Given the description of an element on the screen output the (x, y) to click on. 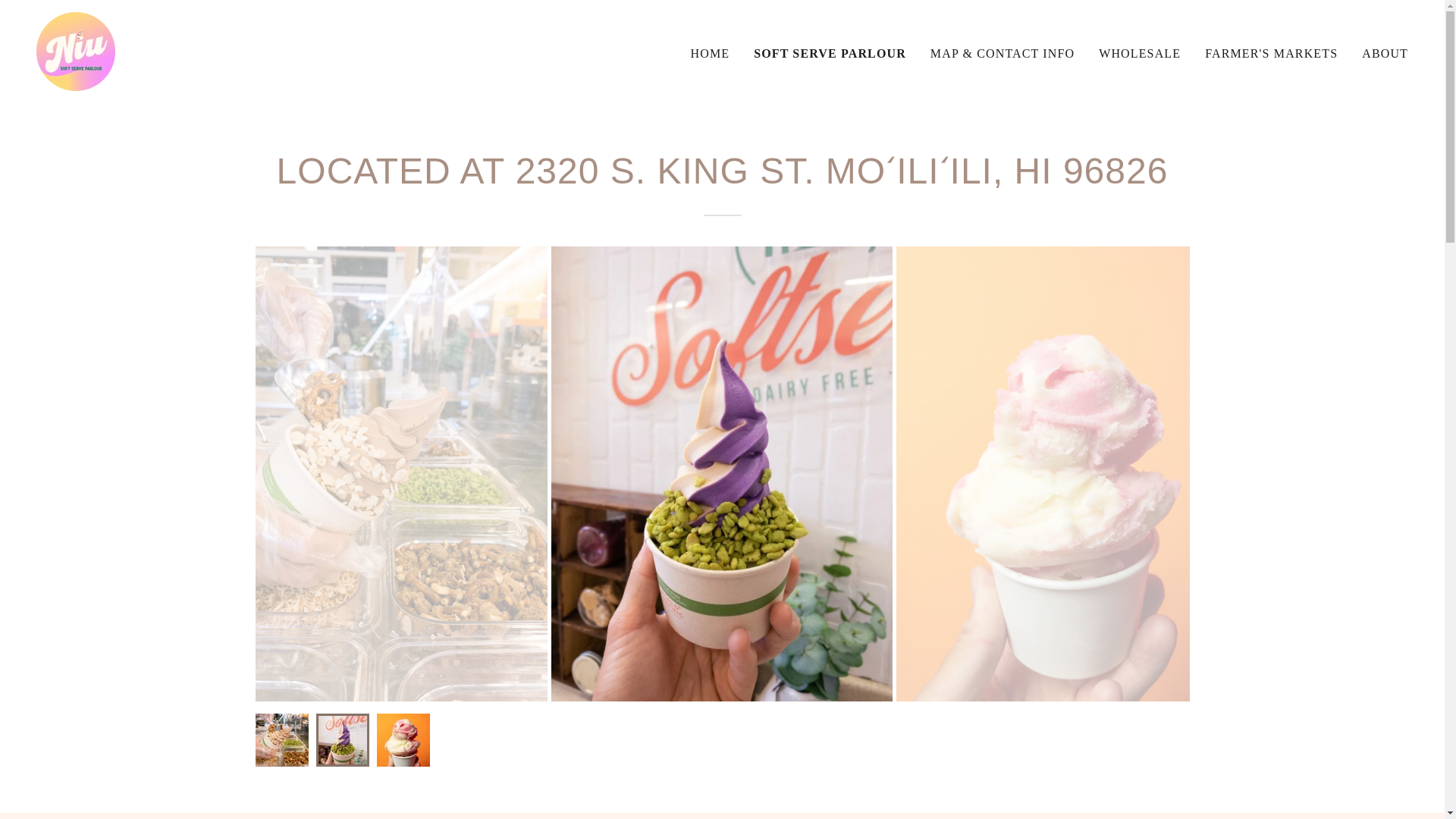
HOME (710, 52)
SOFT SERVE PARLOUR (829, 53)
ABOUT (1384, 52)
NIU SOFT SERVE (75, 49)
FARMER'S MARKETS (1270, 52)
WHOLESALE (1139, 52)
